Given the description of an element on the screen output the (x, y) to click on. 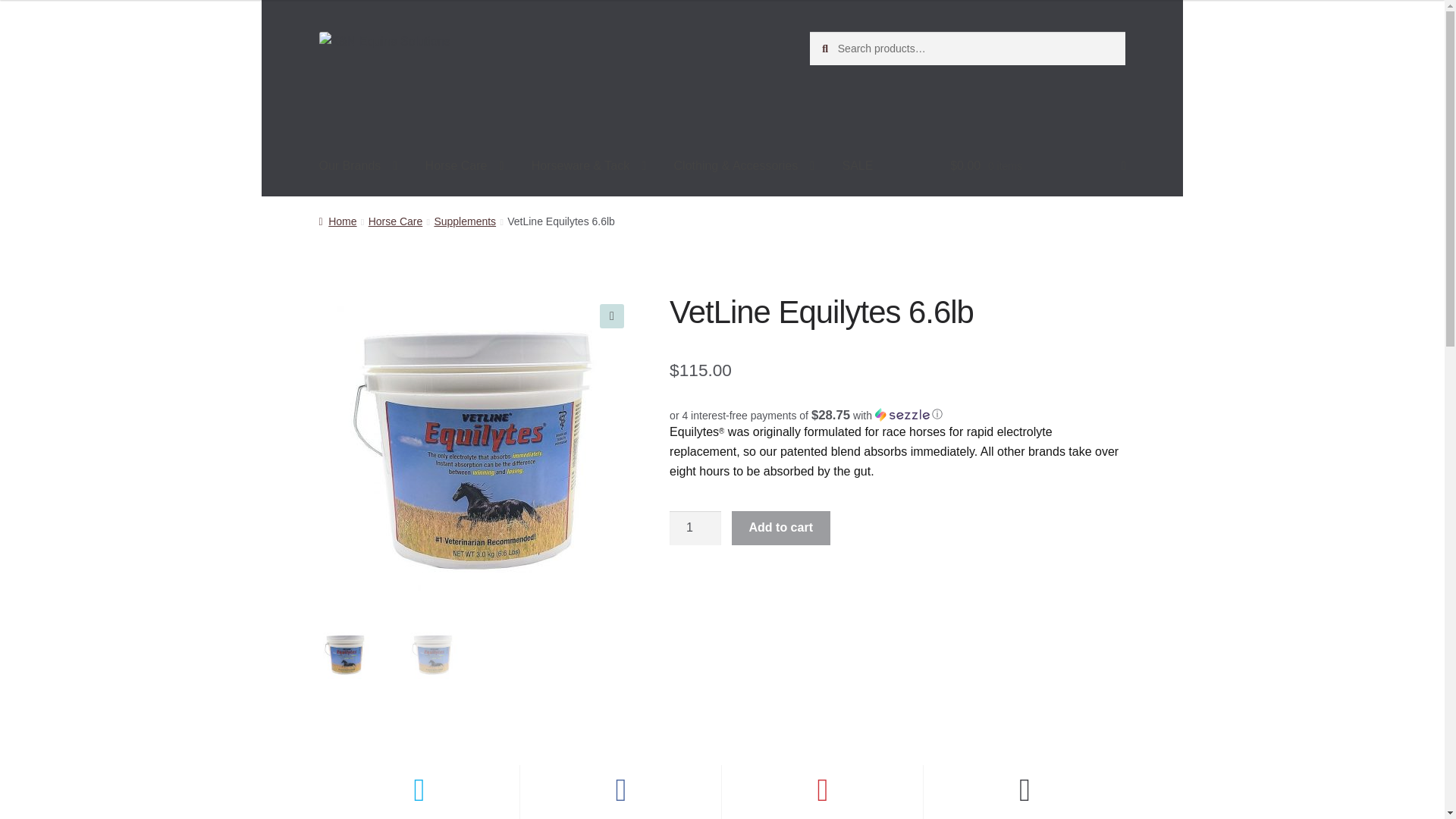
VetLine Equilytes 6.6lb (792, 451)
View your shopping cart (1037, 165)
Horse Care (464, 165)
VetLine Equilytes 6.6lb (475, 451)
Our Brands (357, 165)
1 (694, 528)
